Given the description of an element on the screen output the (x, y) to click on. 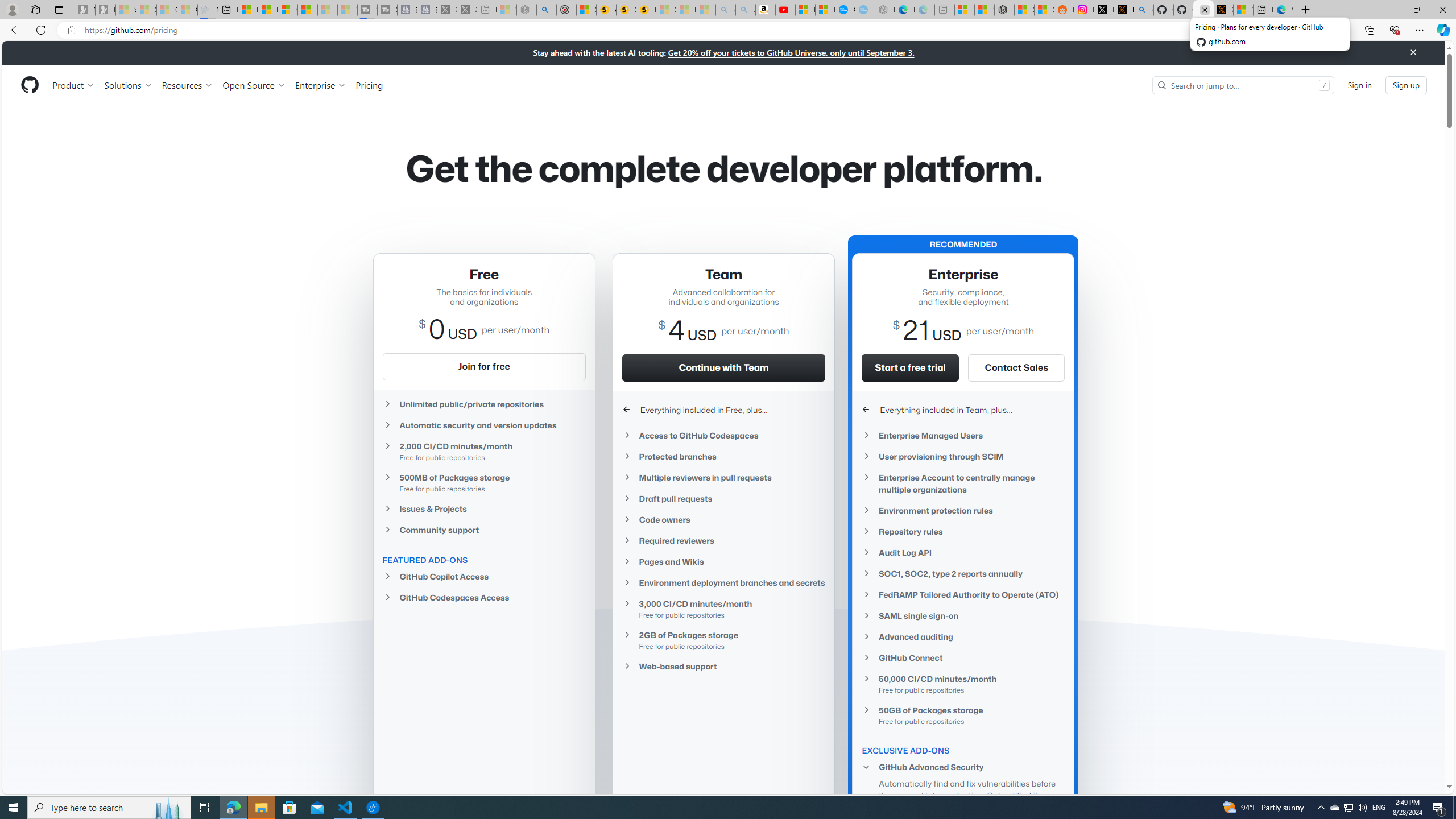
Open Source (254, 84)
Automatic security and version updates (483, 425)
Multiple reviewers in pull requests (723, 477)
Log in to X / X (1103, 9)
Wildlife - MSN - Sleeping (506, 9)
Everything included in Free, plus... (723, 409)
Resources (187, 84)
Pages and Wikis (723, 561)
